Given the description of an element on the screen output the (x, y) to click on. 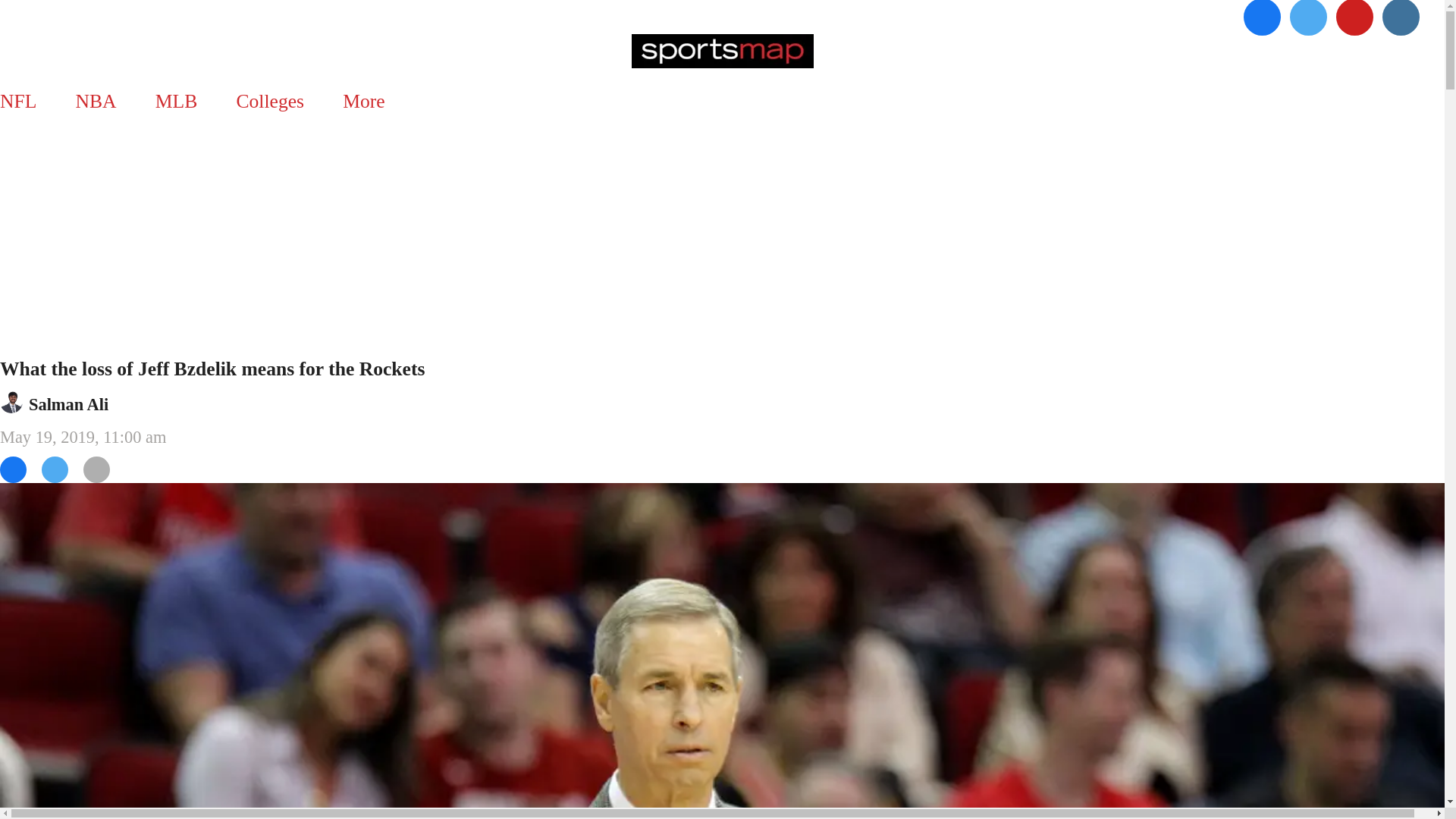
More (363, 100)
MLB (175, 100)
NBA (95, 100)
Colleges (269, 100)
Salman Ali (68, 404)
